Given the description of an element on the screen output the (x, y) to click on. 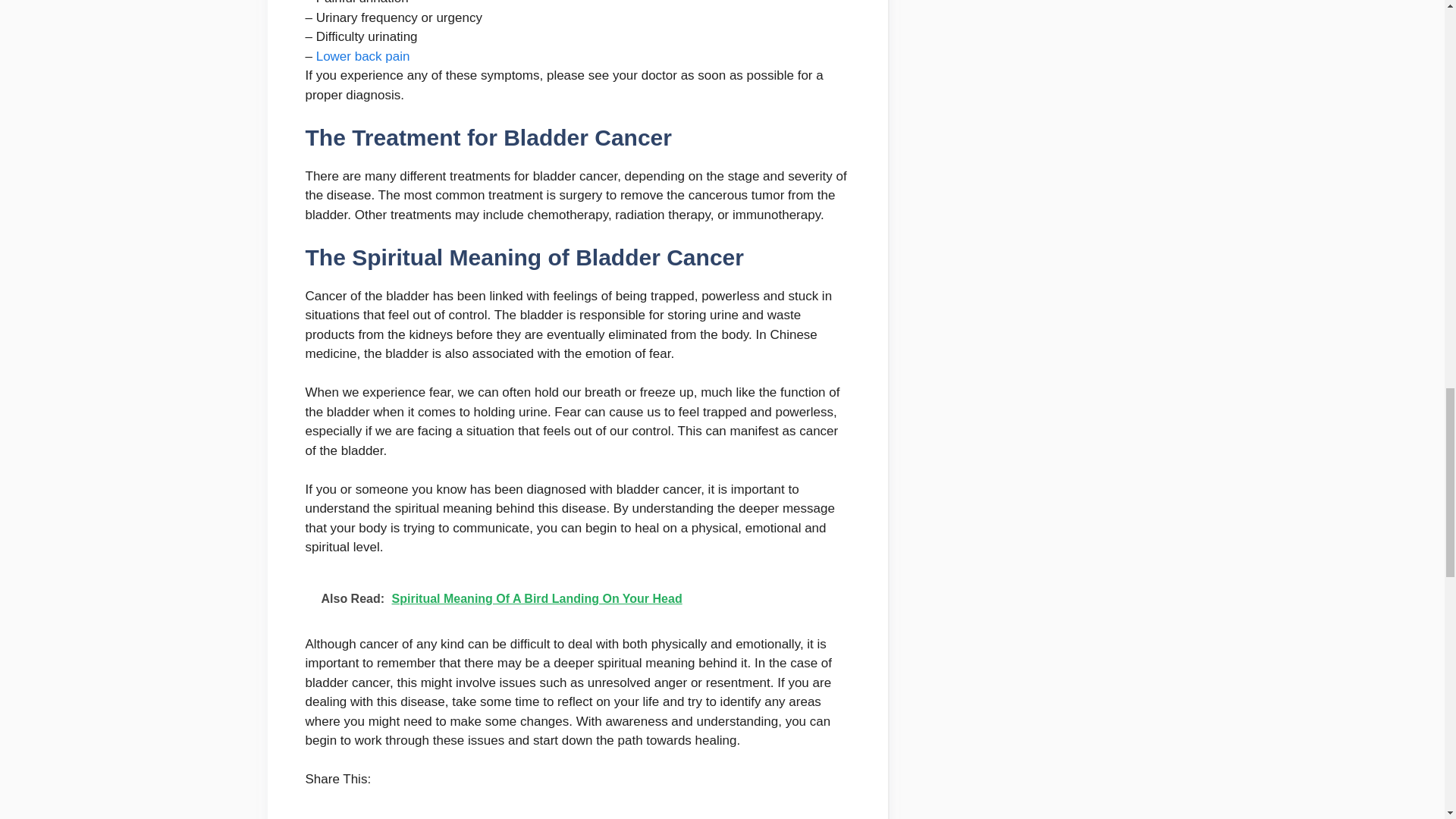
Lower back pain (362, 56)
Also Read:  Spiritual Meaning Of A Bird Landing On Your Head (576, 598)
